Given the description of an element on the screen output the (x, y) to click on. 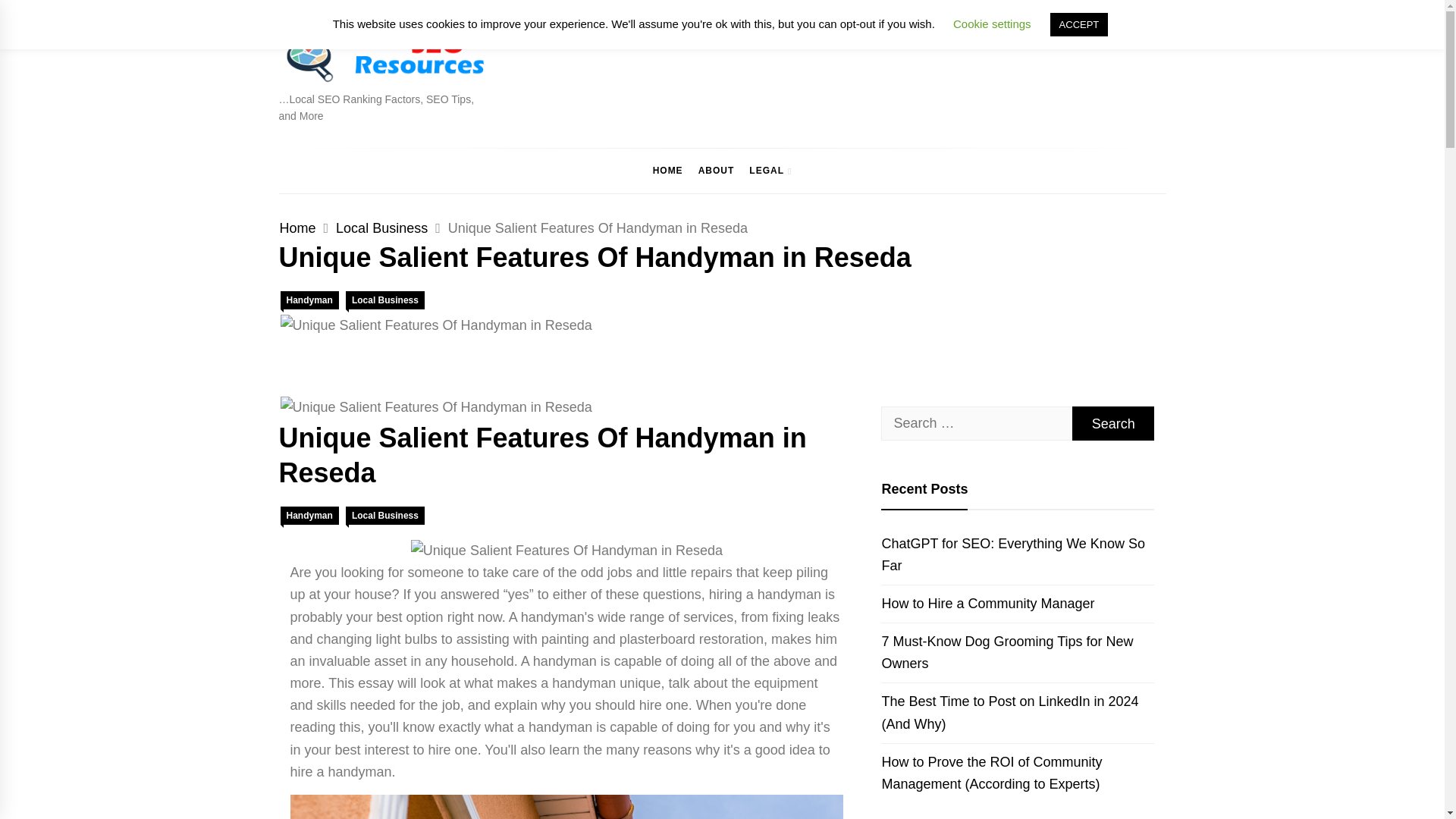
Local Business (385, 300)
HOME (667, 170)
Local Business (385, 515)
Handyman (310, 300)
Local Business (382, 227)
Home (297, 227)
Search (1112, 423)
Unique Salient Features Of Handyman in Reseda (566, 550)
Unique Salient Features Of Handyman in Reseda (435, 325)
ABOUT (716, 170)
Unique Salient Features Of Handyman in Reseda (435, 407)
LEGAL (770, 170)
Handyman (310, 515)
Search (1112, 423)
Local SEO Resources (413, 105)
